Given the description of an element on the screen output the (x, y) to click on. 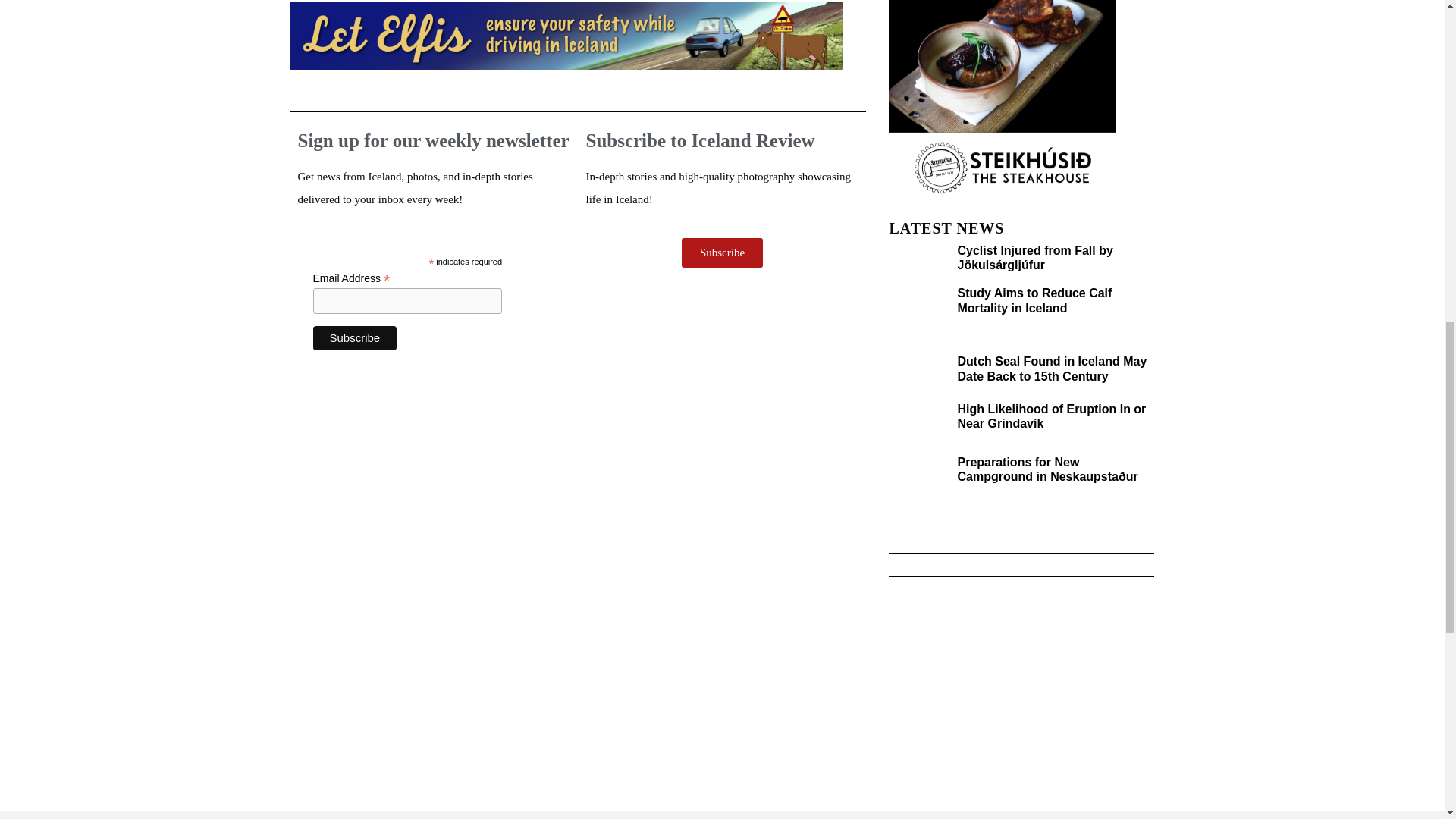
Dutch Seal Found in Iceland May Date Back to 15th Century (1051, 368)
Subscribe (354, 337)
Study Aims to Reduce Calf Mortality in Iceland (1034, 299)
